Given the description of an element on the screen output the (x, y) to click on. 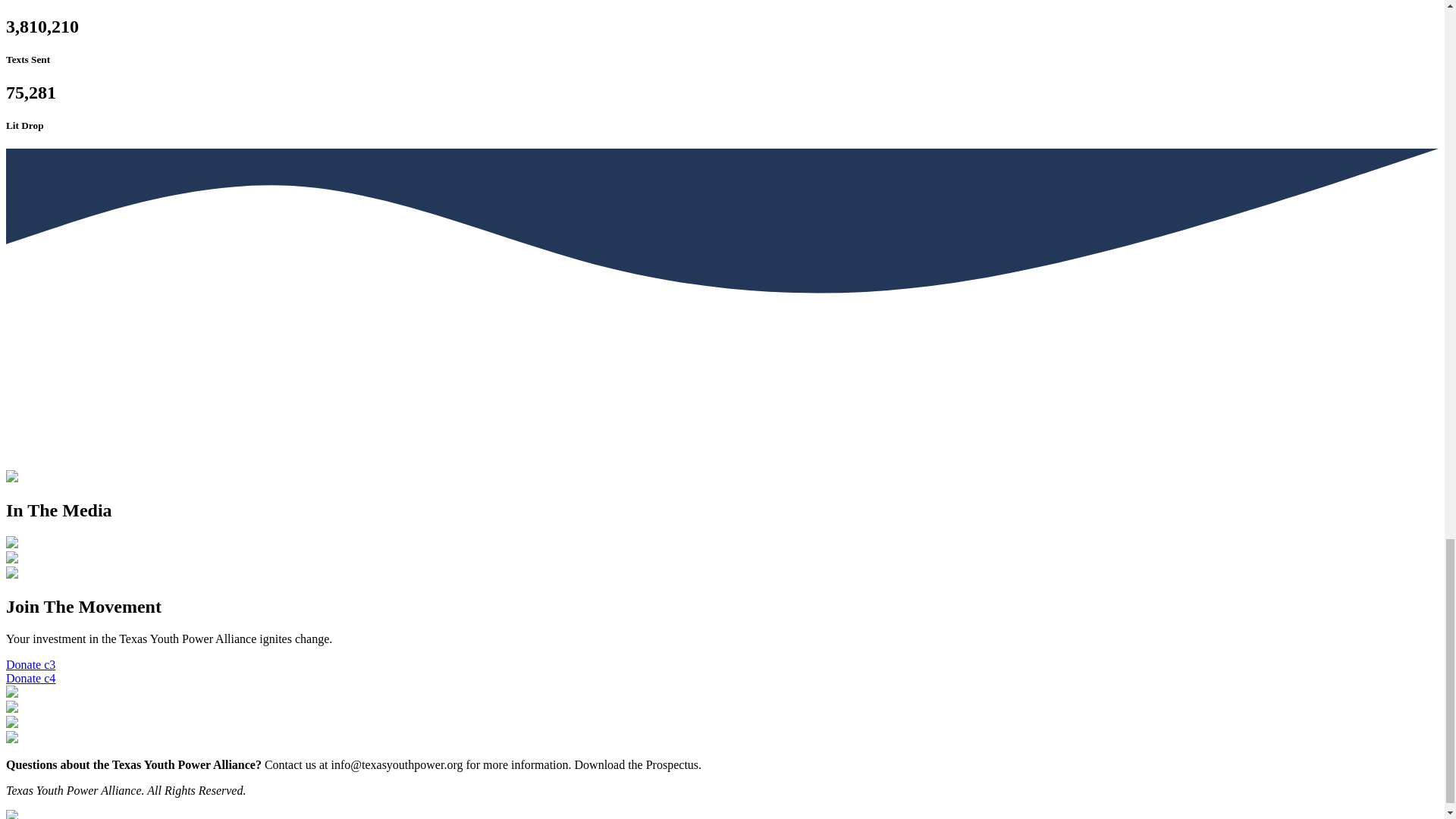
Donate c4 (30, 677)
Donate c3 (30, 664)
